Given the description of an element on the screen output the (x, y) to click on. 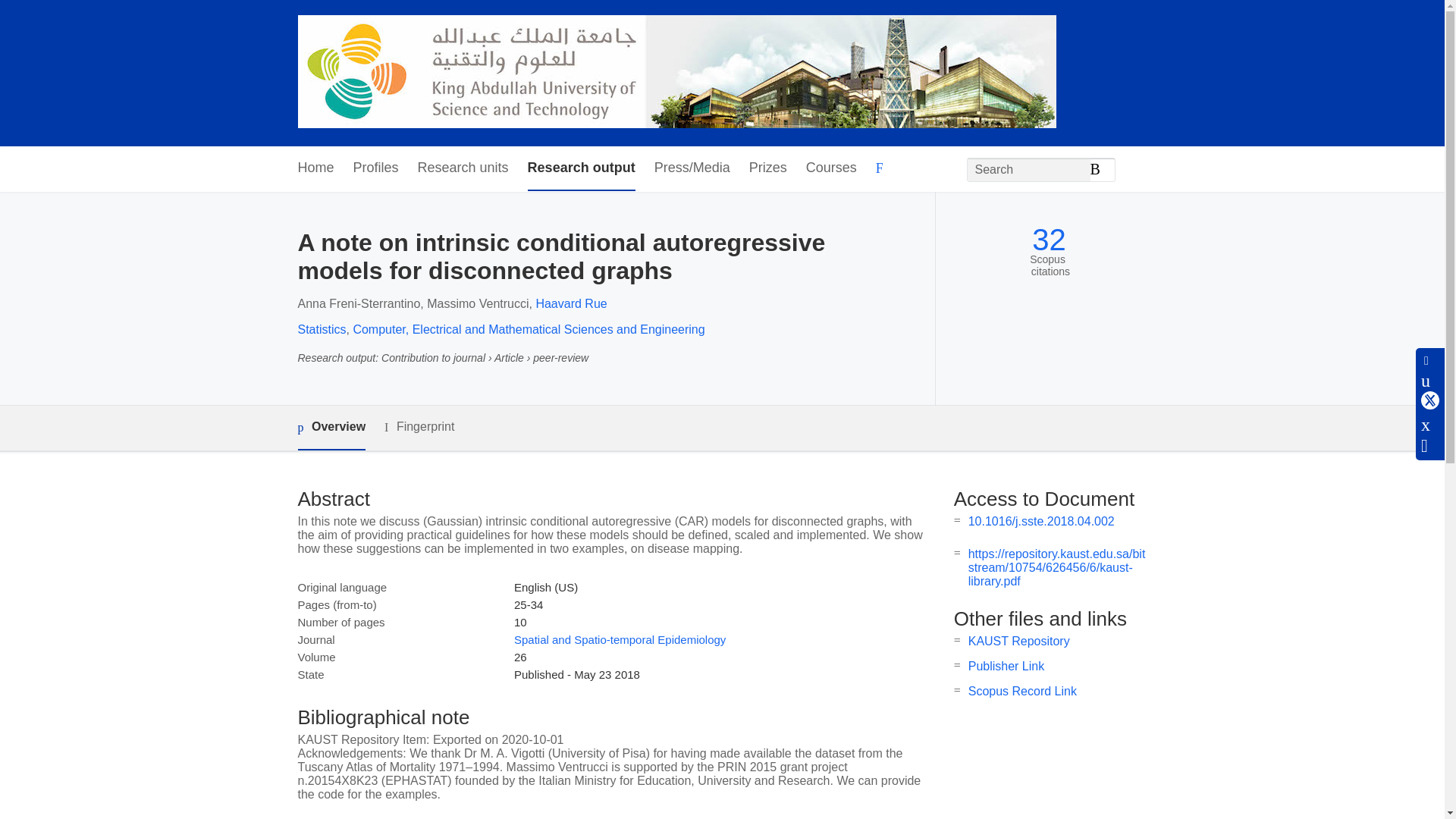
Haavard Rue (571, 303)
32 (1048, 239)
KAUST Repository (1019, 640)
Statistics (321, 328)
Overview (331, 427)
Publisher Link (1006, 666)
Scopus Record Link (1022, 690)
Fingerprint (419, 426)
Research output (580, 168)
